Given the description of an element on the screen output the (x, y) to click on. 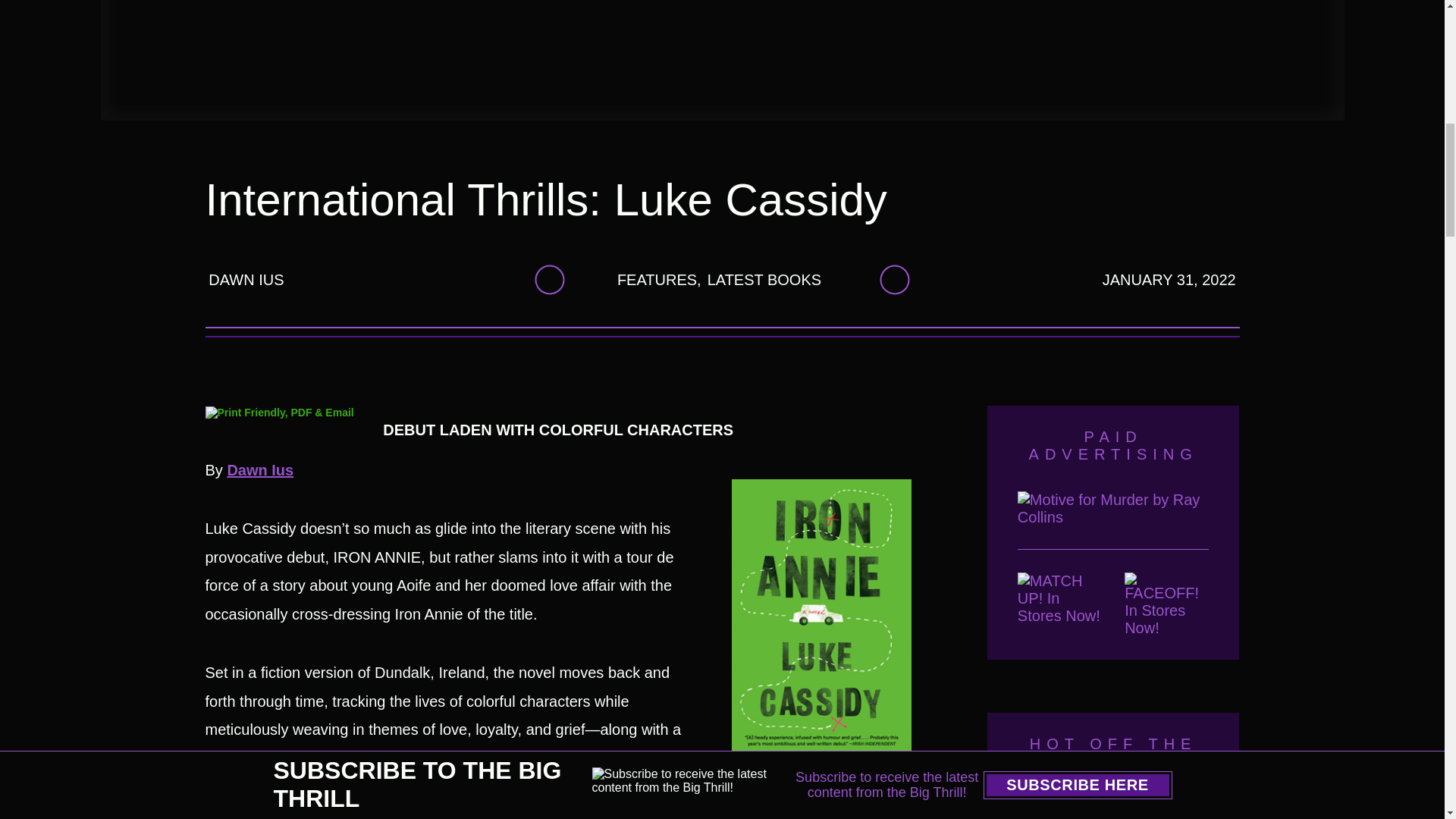
FACEOFF! In Stores Now! (1166, 603)
Motive for Murder by Ray Collins (1113, 520)
FORECASTING ERROR with Michael Grigsby (1112, 808)
MATCH UP! In Stores Now! (1059, 603)
